Given the description of an element on the screen output the (x, y) to click on. 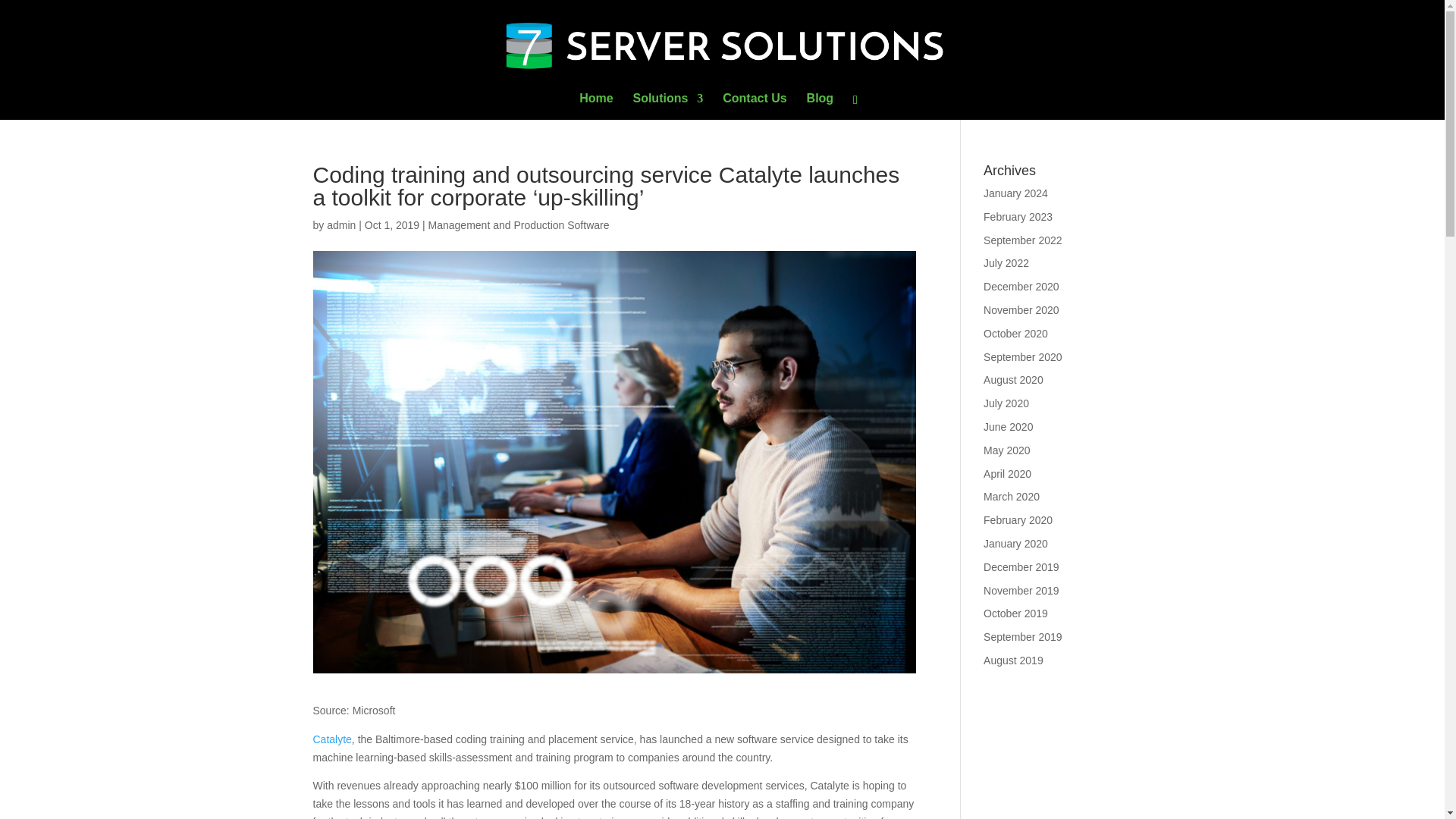
Blog (820, 106)
Posts by admin (340, 224)
Catalyte (331, 739)
Contact Us (754, 106)
Home (595, 106)
Solutions (667, 106)
Management and Production Software (519, 224)
admin (340, 224)
